Given the description of an element on the screen output the (x, y) to click on. 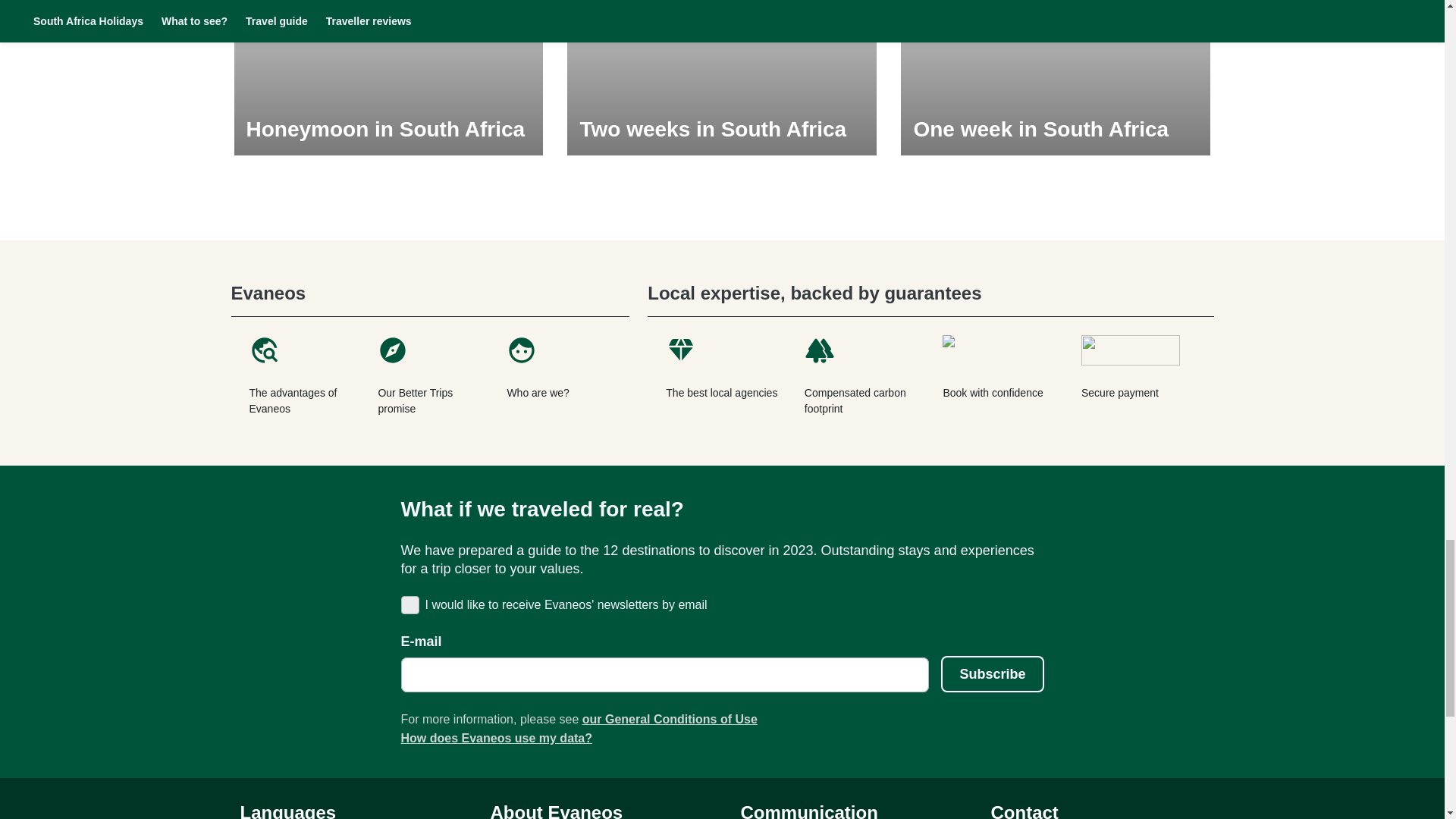
One week in South Africa (1055, 77)
on (408, 603)
Honeymoon in South Africa (387, 77)
Two weeks in South Africa (721, 77)
